Given the description of an element on the screen output the (x, y) to click on. 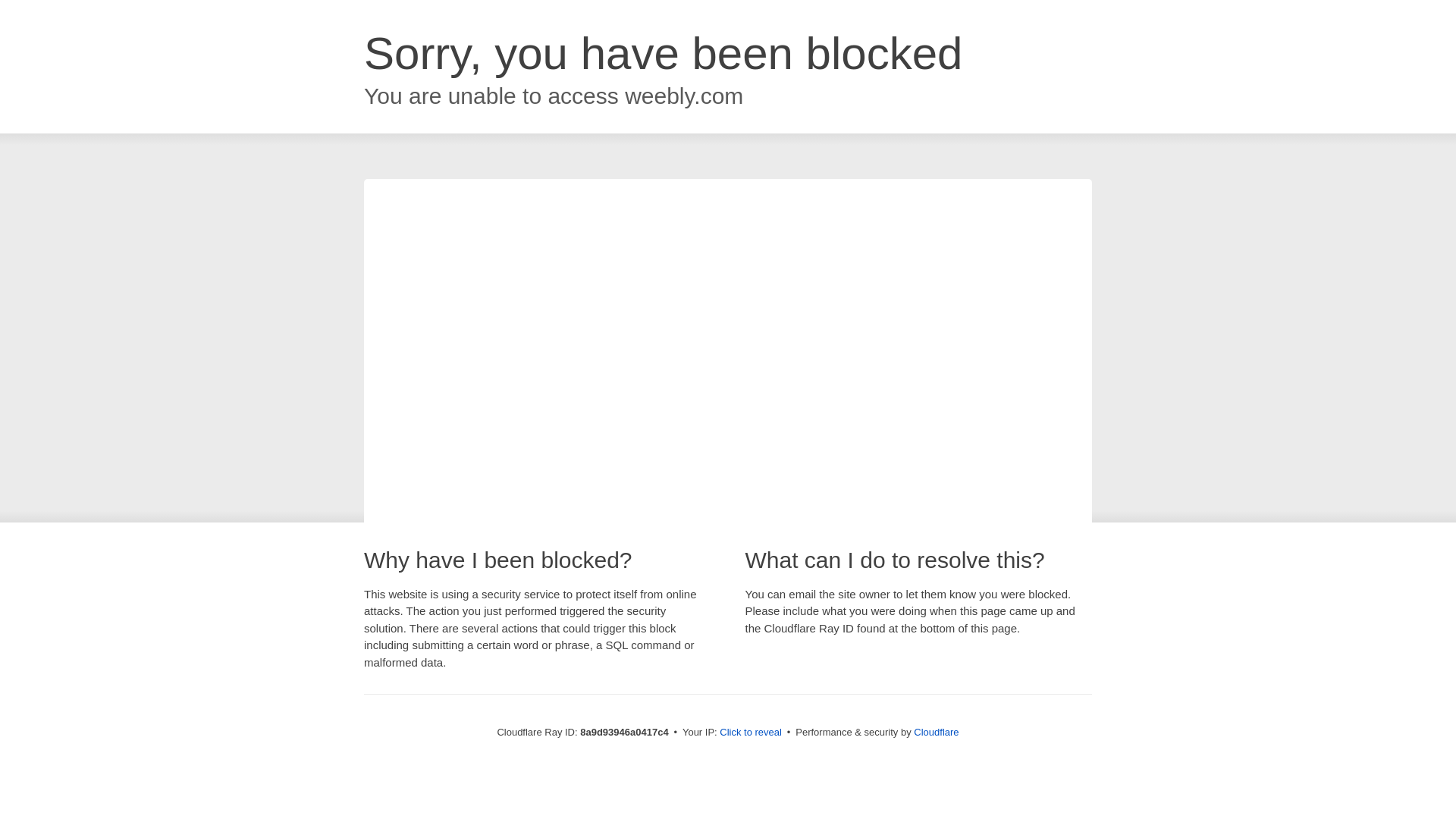
Cloudflare (936, 731)
Click to reveal (750, 732)
